Given the description of an element on the screen output the (x, y) to click on. 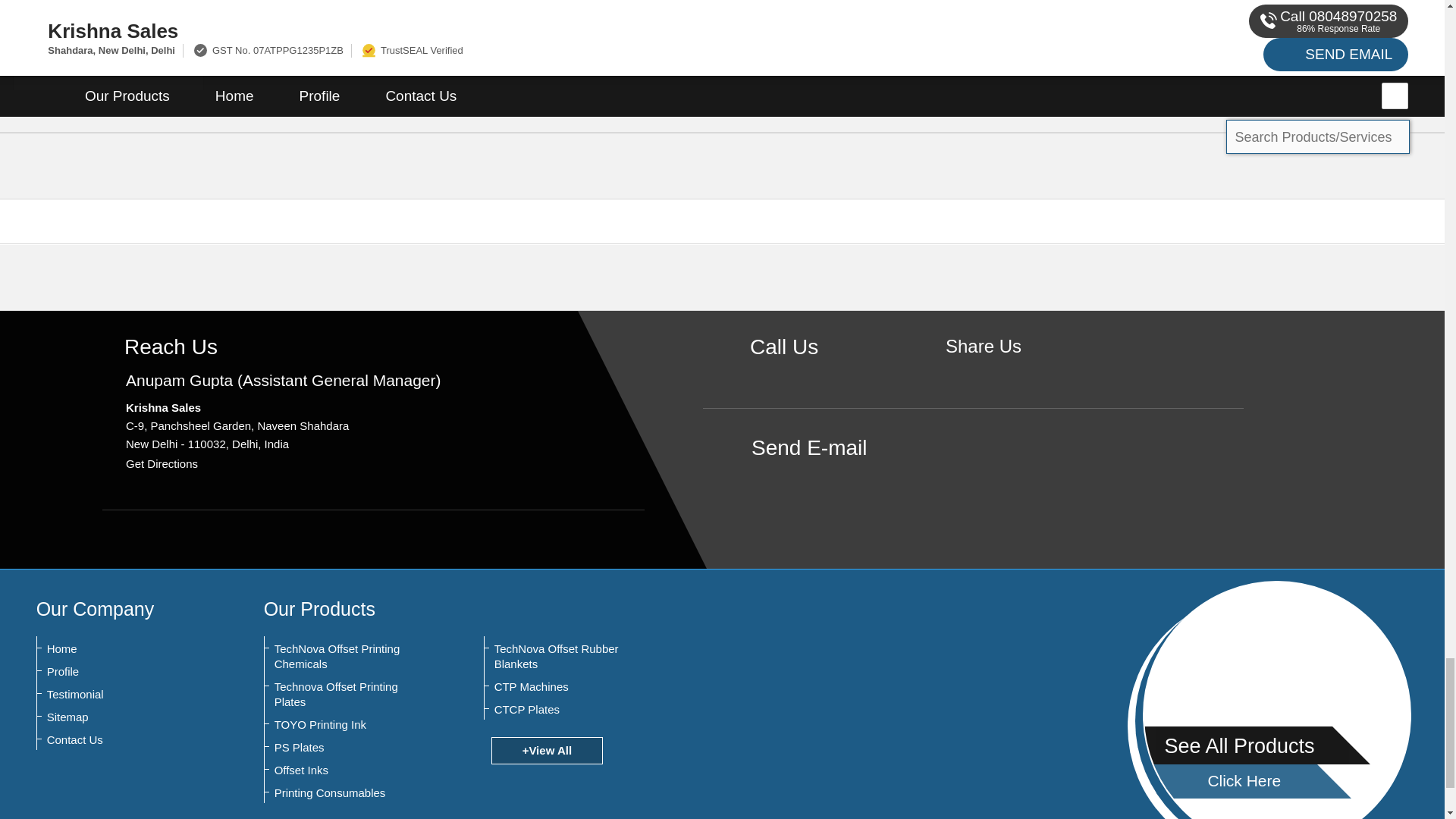
Sitemap (121, 717)
Get Directions (161, 463)
Our Products (319, 608)
Profile (121, 671)
Contact Us (121, 739)
Home (121, 648)
LinkedIn (1029, 372)
Twitter (1006, 372)
Testimonial (121, 694)
Facebook (983, 372)
